Given the description of an element on the screen output the (x, y) to click on. 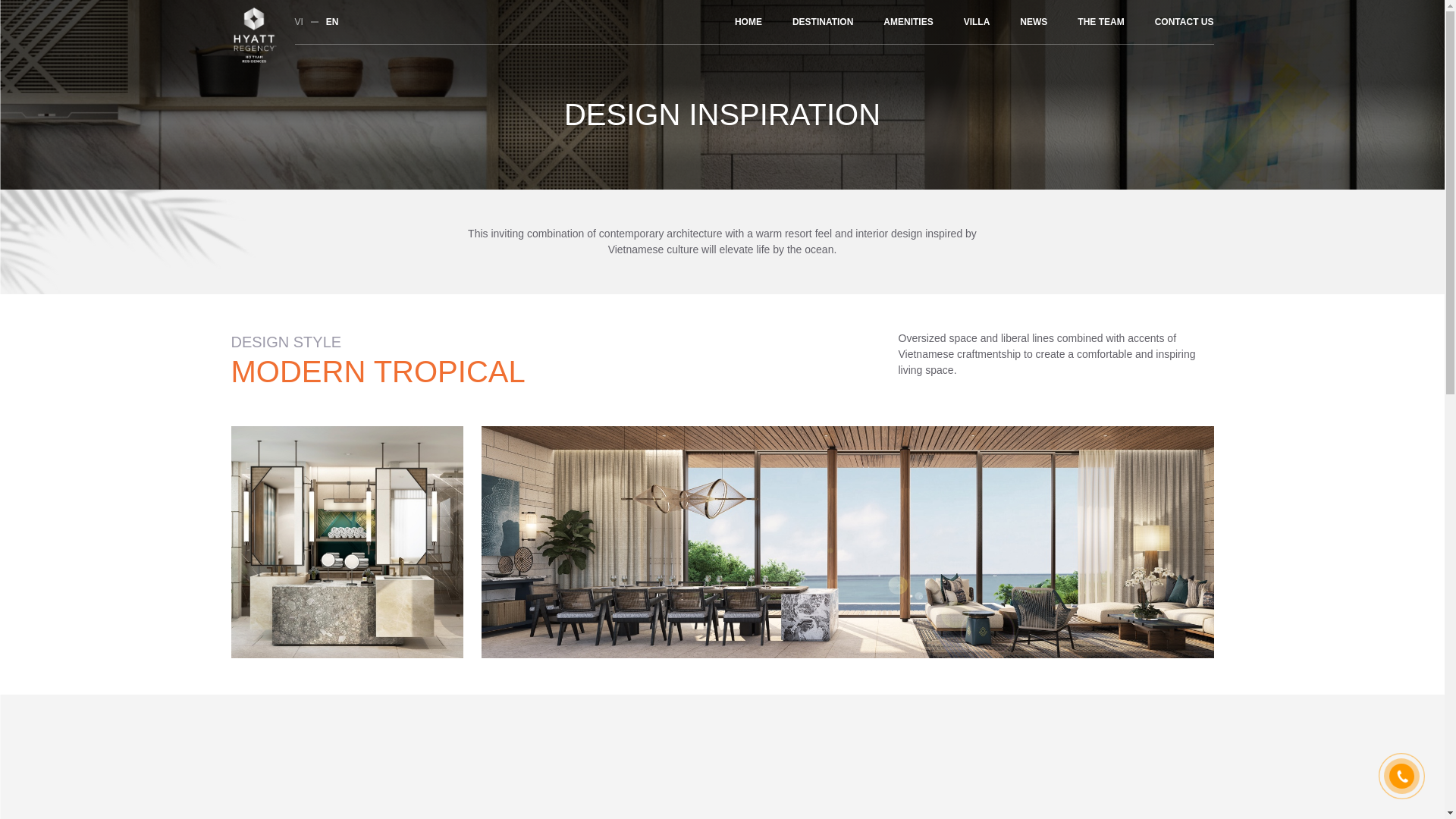
THE TEAM (1100, 22)
CONTACT US (1184, 22)
DESTINATION (822, 22)
AMENITIES (908, 22)
